Given the description of an element on the screen output the (x, y) to click on. 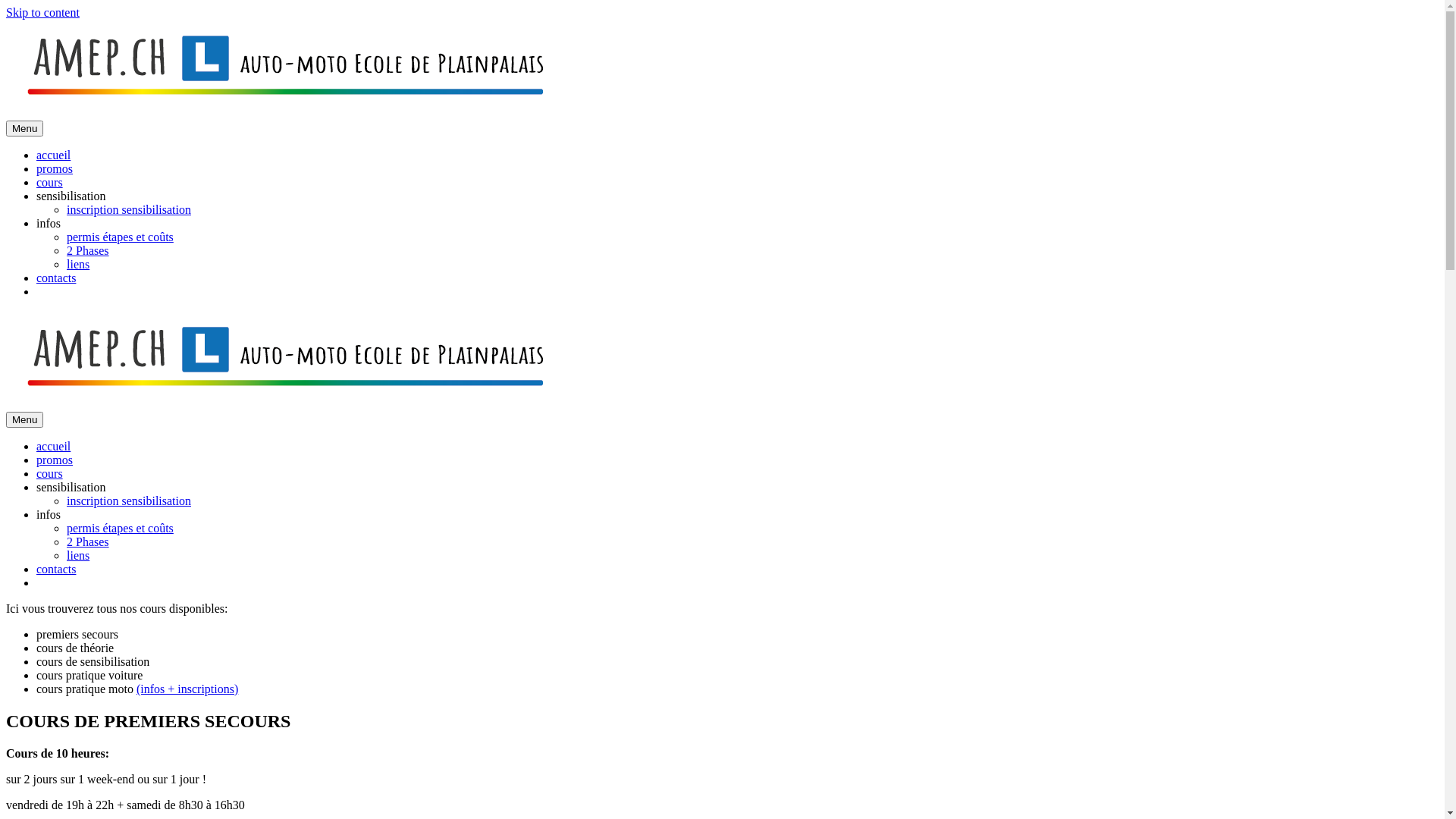
Menu Element type: text (24, 419)
2 Phases Element type: text (87, 541)
cours Element type: text (49, 473)
contacts Element type: text (55, 277)
infos Element type: text (48, 514)
accueil Element type: text (53, 154)
(infos + inscriptions) Element type: text (187, 688)
contacts Element type: text (55, 568)
liens Element type: text (77, 263)
2 Phases Element type: text (87, 250)
sensibilisation Element type: text (71, 486)
Skip to content Element type: text (42, 12)
inscription sensibilisation Element type: text (128, 209)
cours Element type: text (49, 181)
liens Element type: text (77, 555)
inscription sensibilisation Element type: text (128, 500)
sensibilisation Element type: text (71, 195)
Menu Element type: text (24, 128)
infos Element type: text (48, 222)
promos Element type: text (54, 168)
promos Element type: text (54, 459)
accueil Element type: text (53, 445)
